Given the description of an element on the screen output the (x, y) to click on. 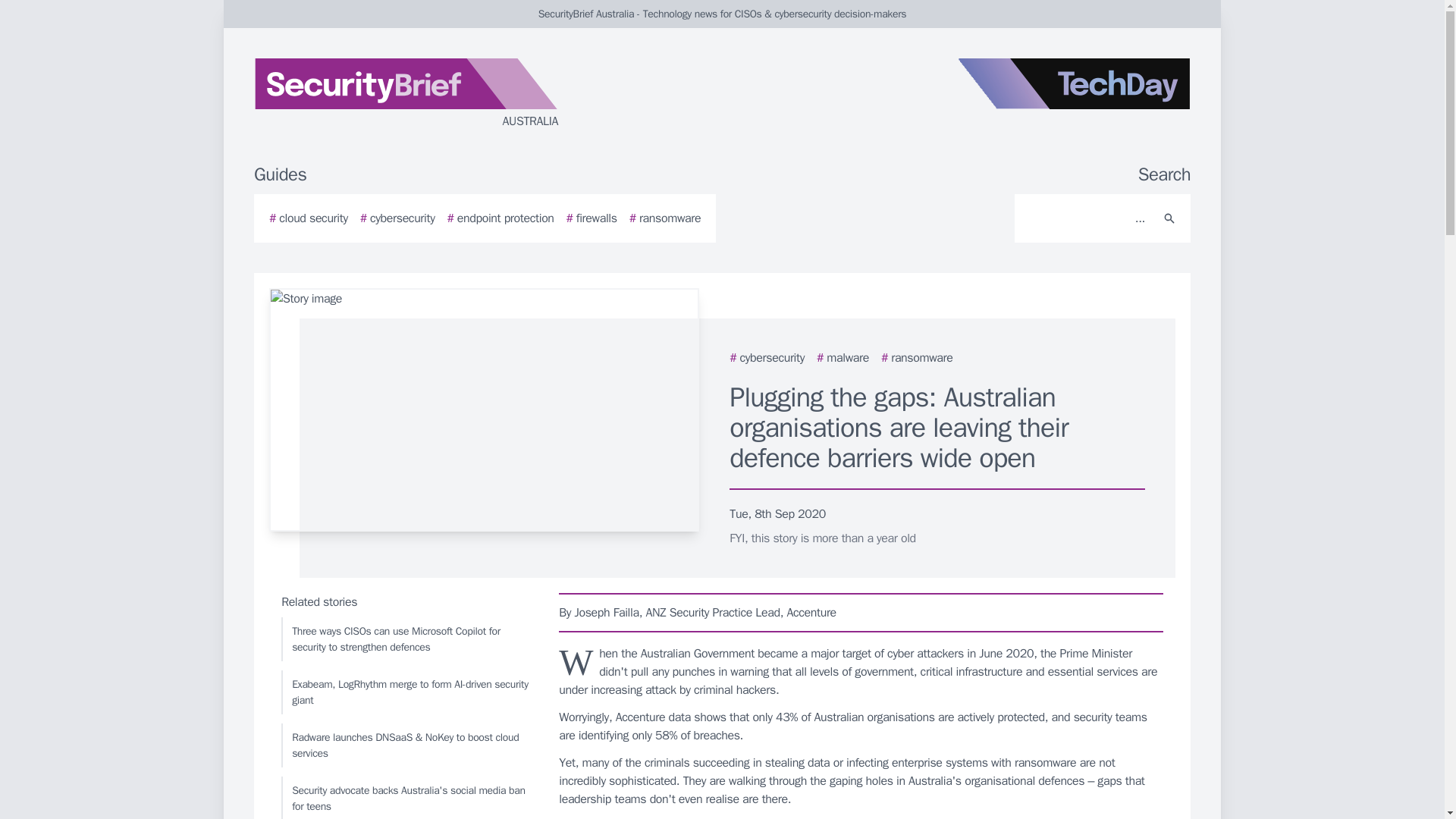
AUSTRALIA (435, 94)
Exabeam, LogRhythm merge to form AI-driven security giant (406, 692)
By Joseph Failla, ANZ Security Practice Lead, Accenture (861, 612)
